Given the description of an element on the screen output the (x, y) to click on. 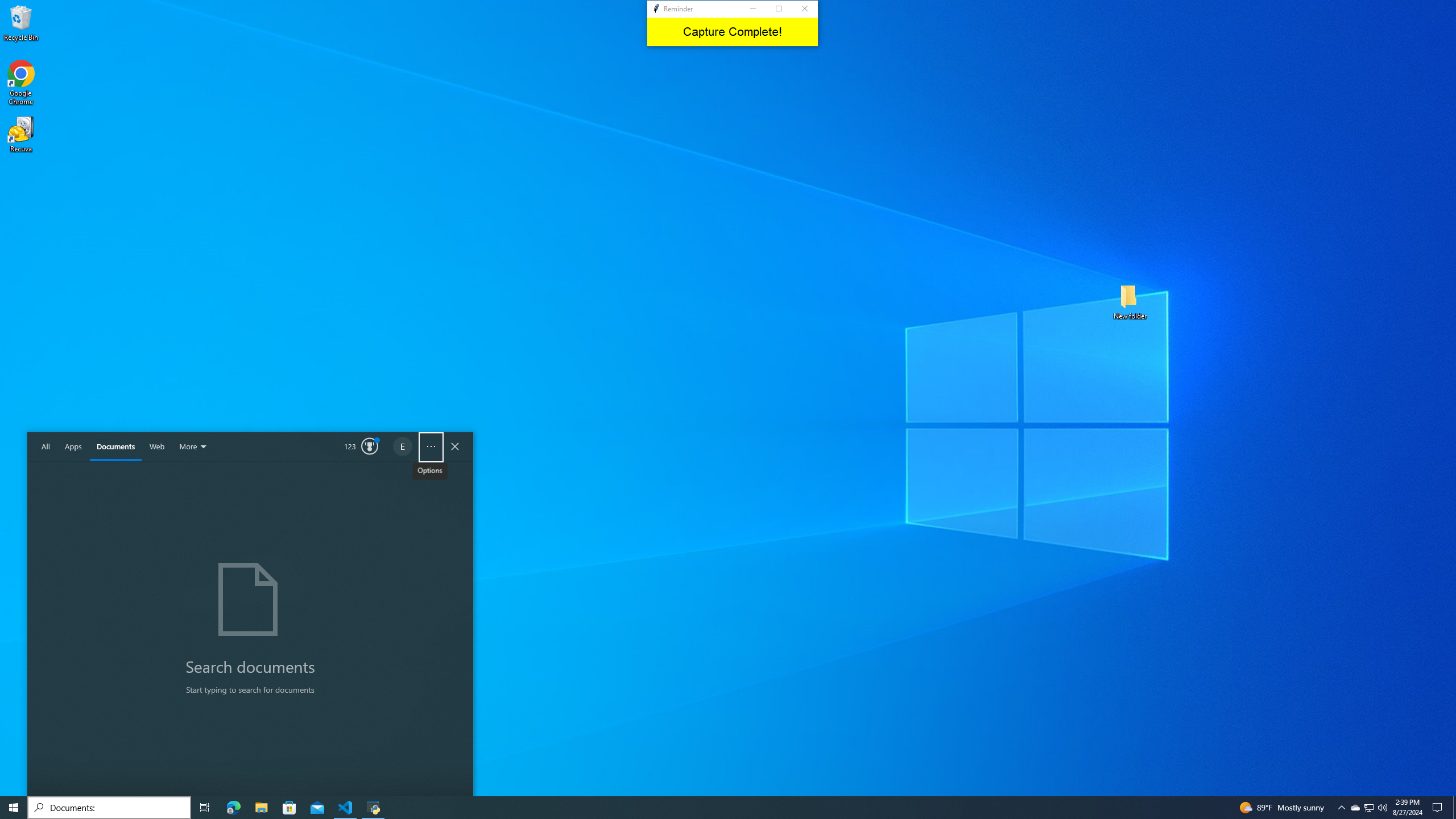
Documents (115, 447)
Close Windows Search (454, 447)
Search box (108, 807)
Apps (73, 447)
Web (156, 447)
All (45, 447)
Options (430, 447)
Microsoft Rewards balance: 123 (361, 447)
